Given the description of an element on the screen output the (x, y) to click on. 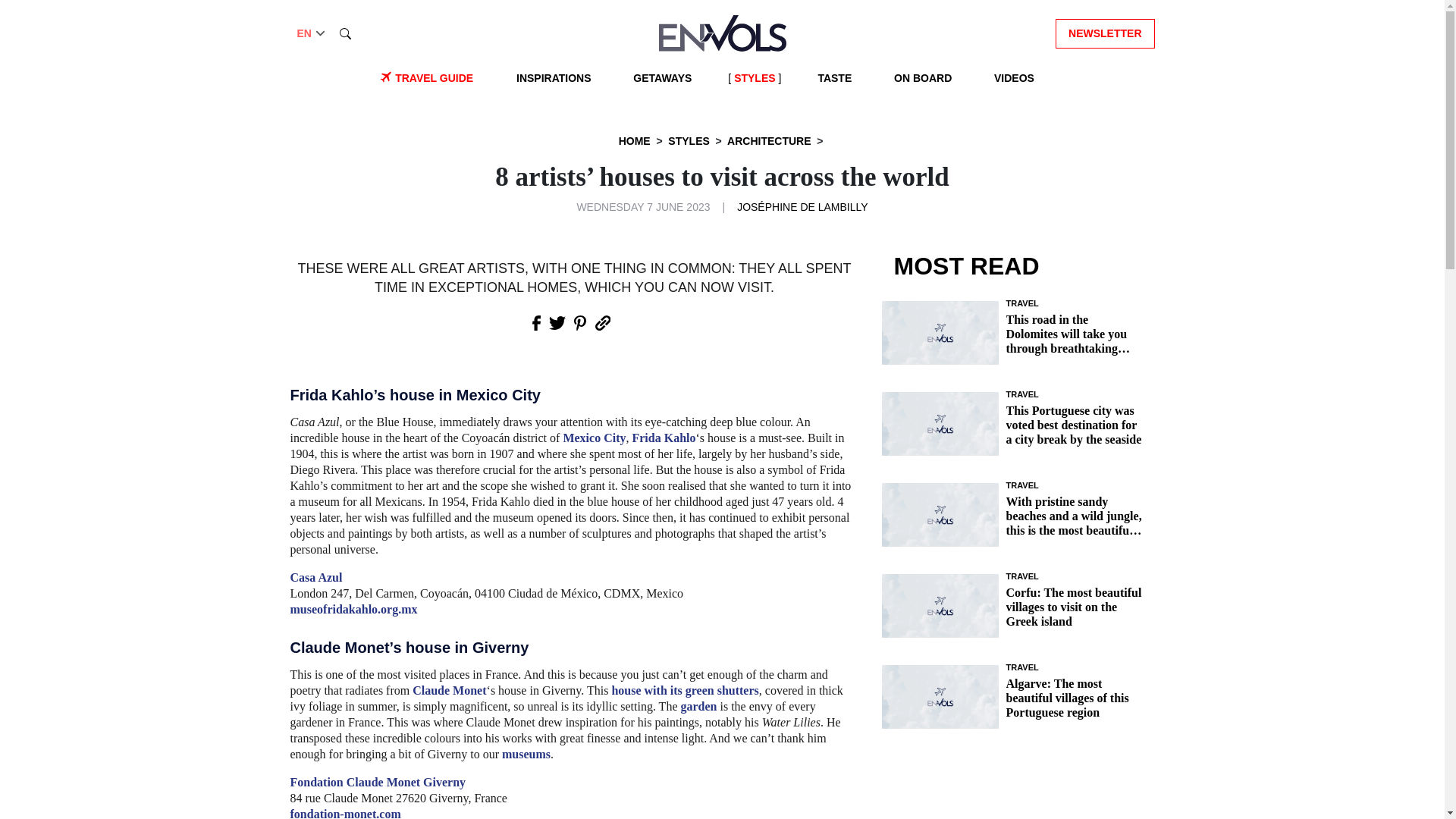
STYLES (754, 78)
TASTE (833, 78)
GETAWAYS (662, 78)
EN (311, 33)
TRAVEL GUIDE (433, 78)
ON BOARD (923, 78)
VIDEOS (1014, 78)
NEWSLETTER (1104, 32)
INSPIRATIONS (553, 78)
